Given the description of an element on the screen output the (x, y) to click on. 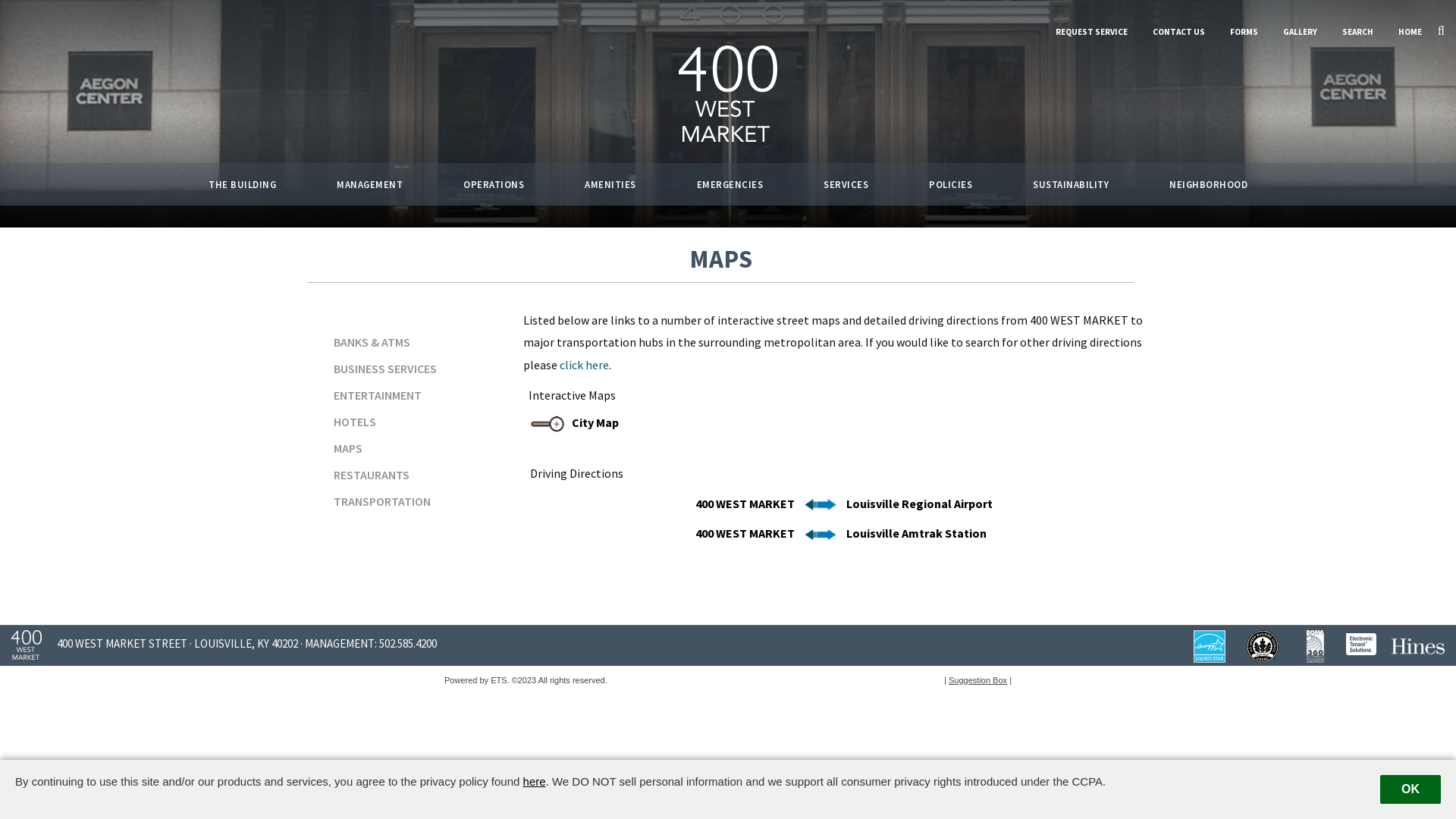
400 WEST MARKET Element type: text (744, 532)
FORMS Element type: text (1243, 31)
HOTELS Element type: text (403, 421)
City Map Element type: text (594, 421)
MAPS Element type: text (403, 447)
click here Element type: text (583, 364)
HOME Element type: text (1409, 31)
ENTERTAINMENT Element type: text (403, 394)
OPERATIONS Element type: text (493, 184)
TRANSPORTATION Element type: text (403, 500)
RESTAURANTS Element type: text (403, 474)
GALLERY Element type: text (1299, 31)
502.585.4200 Element type: text (407, 643)
THE BUILDING Element type: text (242, 184)
SEARCH Element type: text (1357, 31)
MANAGEMENT Element type: text (369, 184)
BUSINESS SERVICES Element type: text (403, 368)
Suggestion Box Element type: text (977, 679)
SERVICES Element type: text (845, 184)
here Element type: text (534, 781)
BANKS & ATMS Element type: text (403, 341)
AMENITIES Element type: text (610, 184)
400 WEST MARKET Element type: text (744, 503)
Louisville Regional Airport Element type: text (919, 503)
NEIGHBORHOOD Element type: text (1208, 184)
Powered by ETS. Element type: text (476, 679)
Louisville Amtrak Station Element type: text (916, 532)
CONTACT US Element type: text (1178, 31)
SUSTAINABILITY Element type: text (1070, 184)
EMERGENCIES Element type: text (729, 184)
REQUEST SERVICE Element type: text (1091, 31)
POLICIES Element type: text (950, 184)
